Given the description of an element on the screen output the (x, y) to click on. 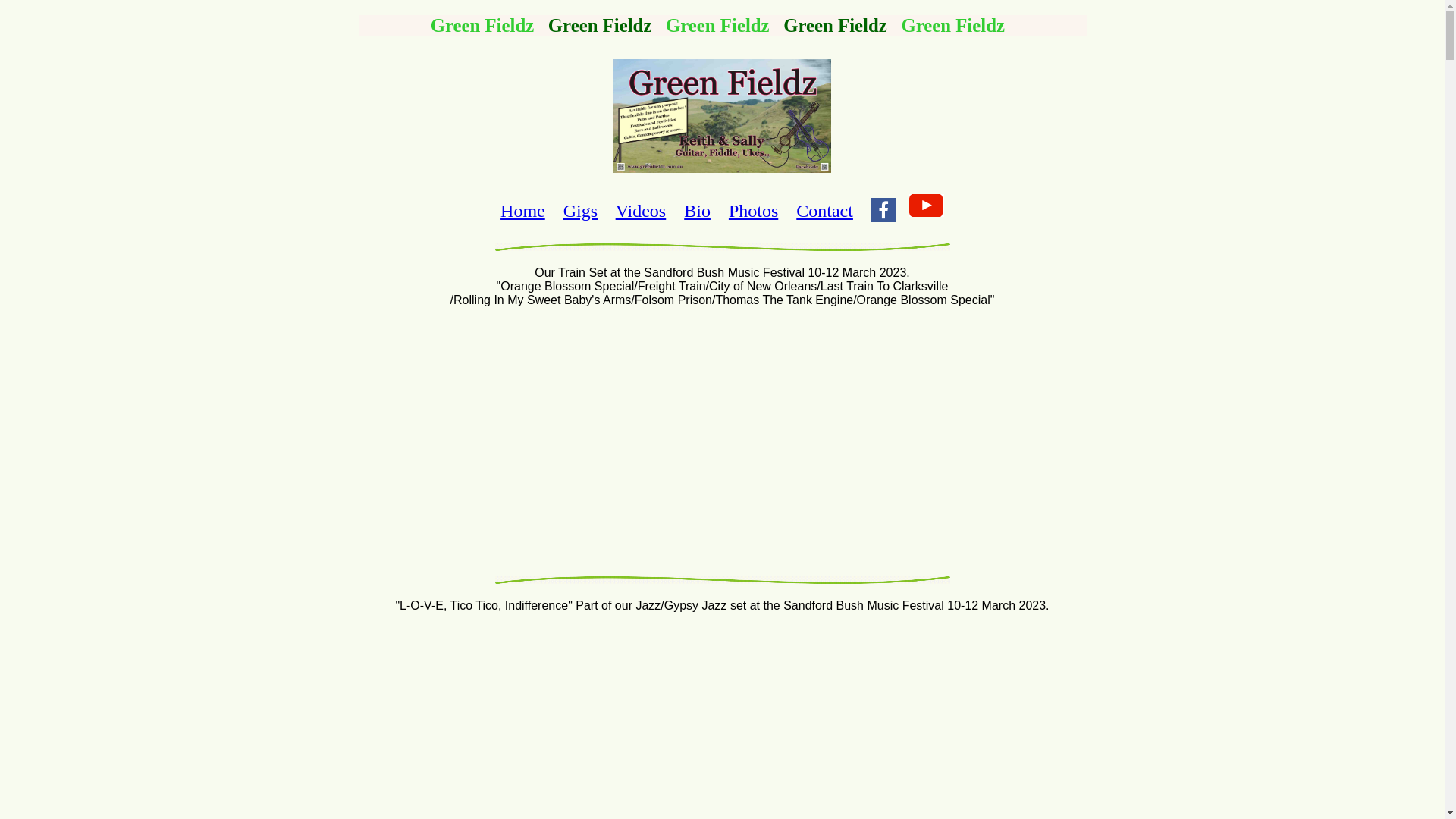
Photos Element type: text (753, 210)
YouTube video player Element type: hover (721, 438)
Home Element type: text (522, 210)
Videos Element type: text (640, 210)
Gigs Element type: text (580, 210)
Contact Element type: text (824, 210)
Bio Element type: text (697, 210)
